Given the description of an element on the screen output the (x, y) to click on. 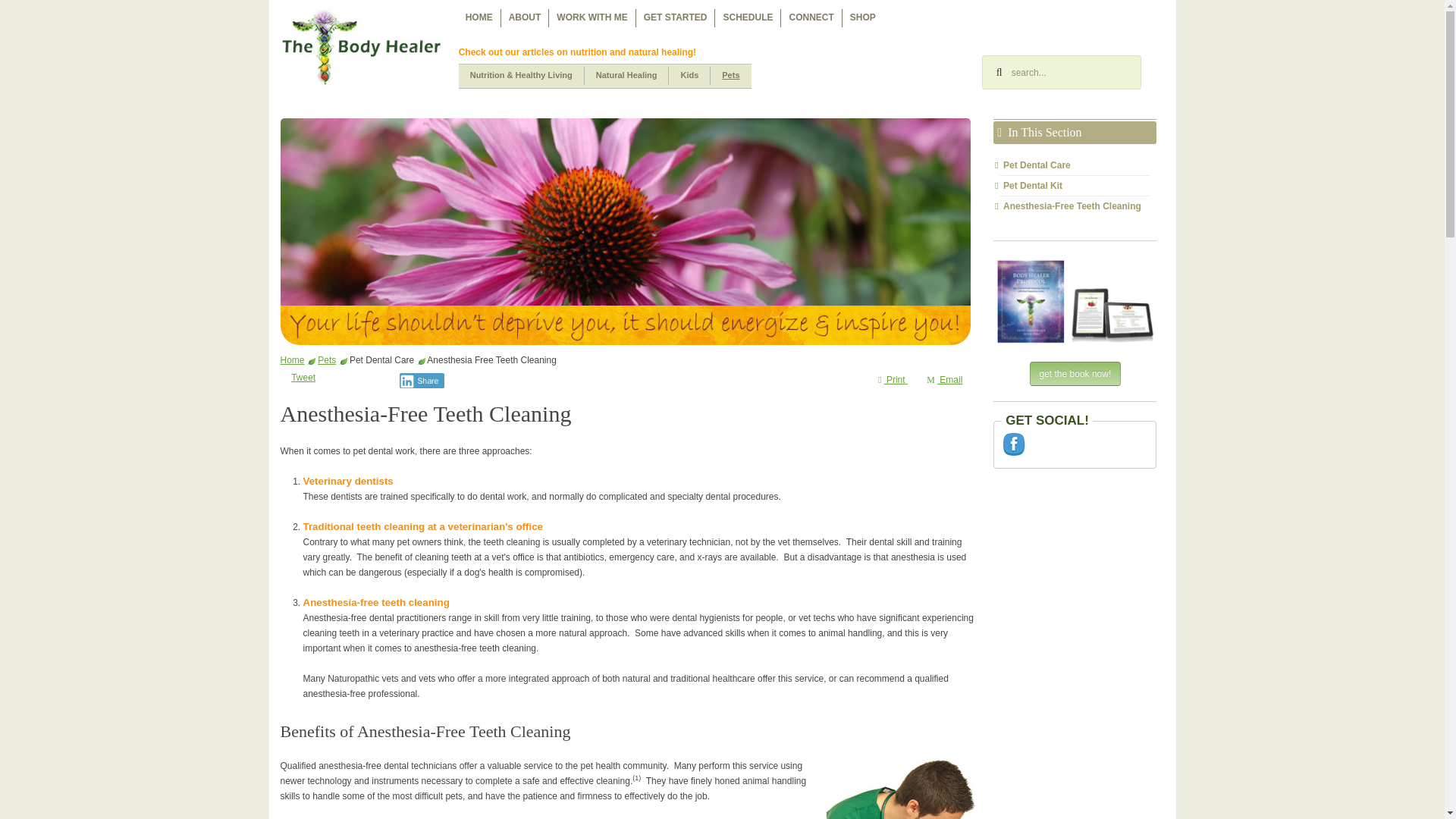
HOME (479, 17)
ABOUT (524, 17)
CONNECT (810, 17)
WORK WITH ME (591, 17)
SCHEDULE (747, 17)
GET STARTED (675, 17)
SHOP (863, 17)
Email this link to a friend (942, 379)
